Given the description of an element on the screen output the (x, y) to click on. 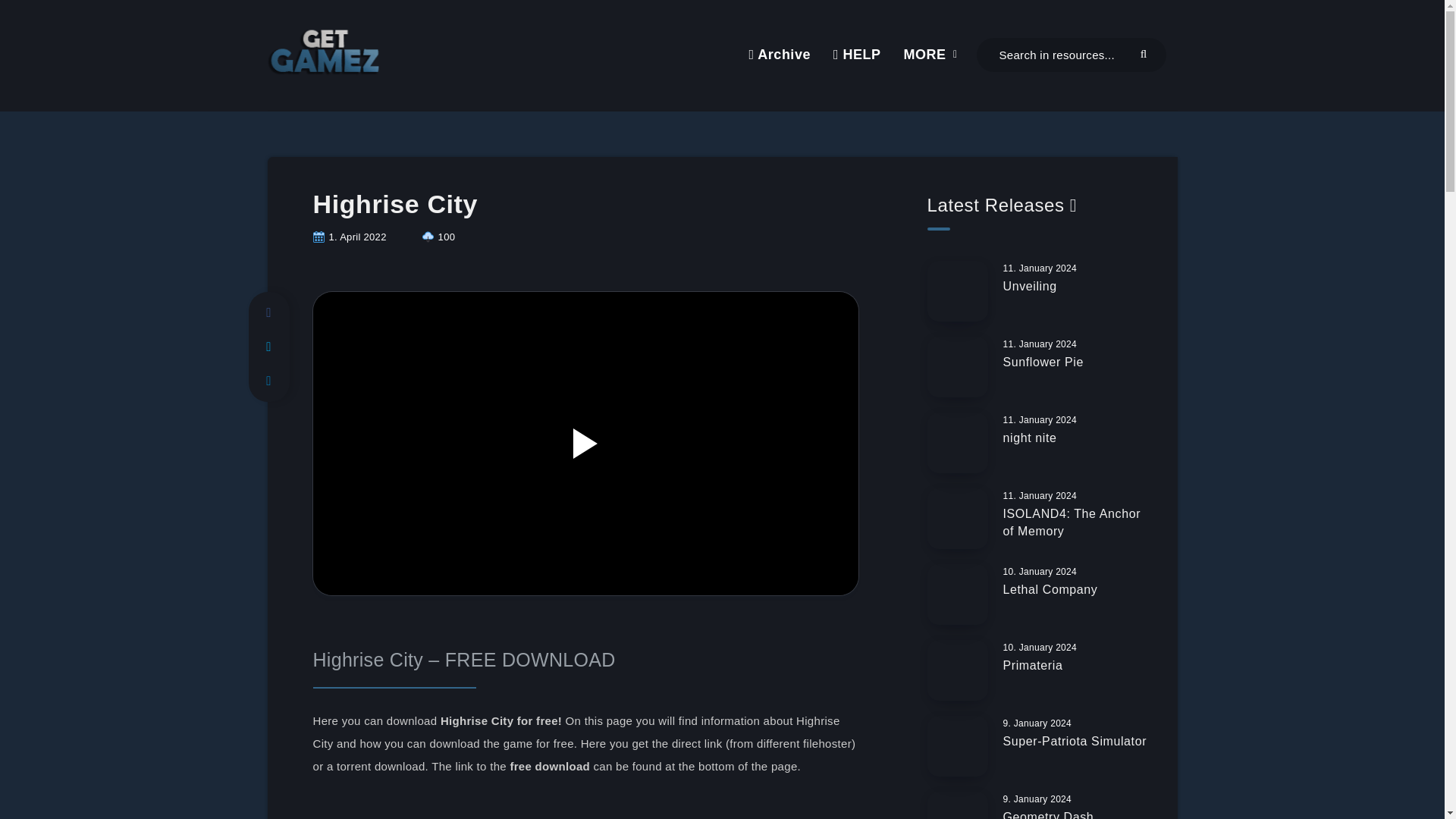
Unveiling (1030, 288)
HELP (856, 54)
Sunflower Pie (1043, 363)
ISOLAND4: The Anchor of Memory (1071, 523)
Lethal Company (1050, 591)
Archive (778, 54)
Primateria (1032, 667)
night nite (1030, 439)
Downloads (438, 236)
MORE (925, 54)
Super-Patriota Simulator (1075, 742)
Archive (778, 54)
Geometry Dash (1048, 814)
